Given the description of an element on the screen output the (x, y) to click on. 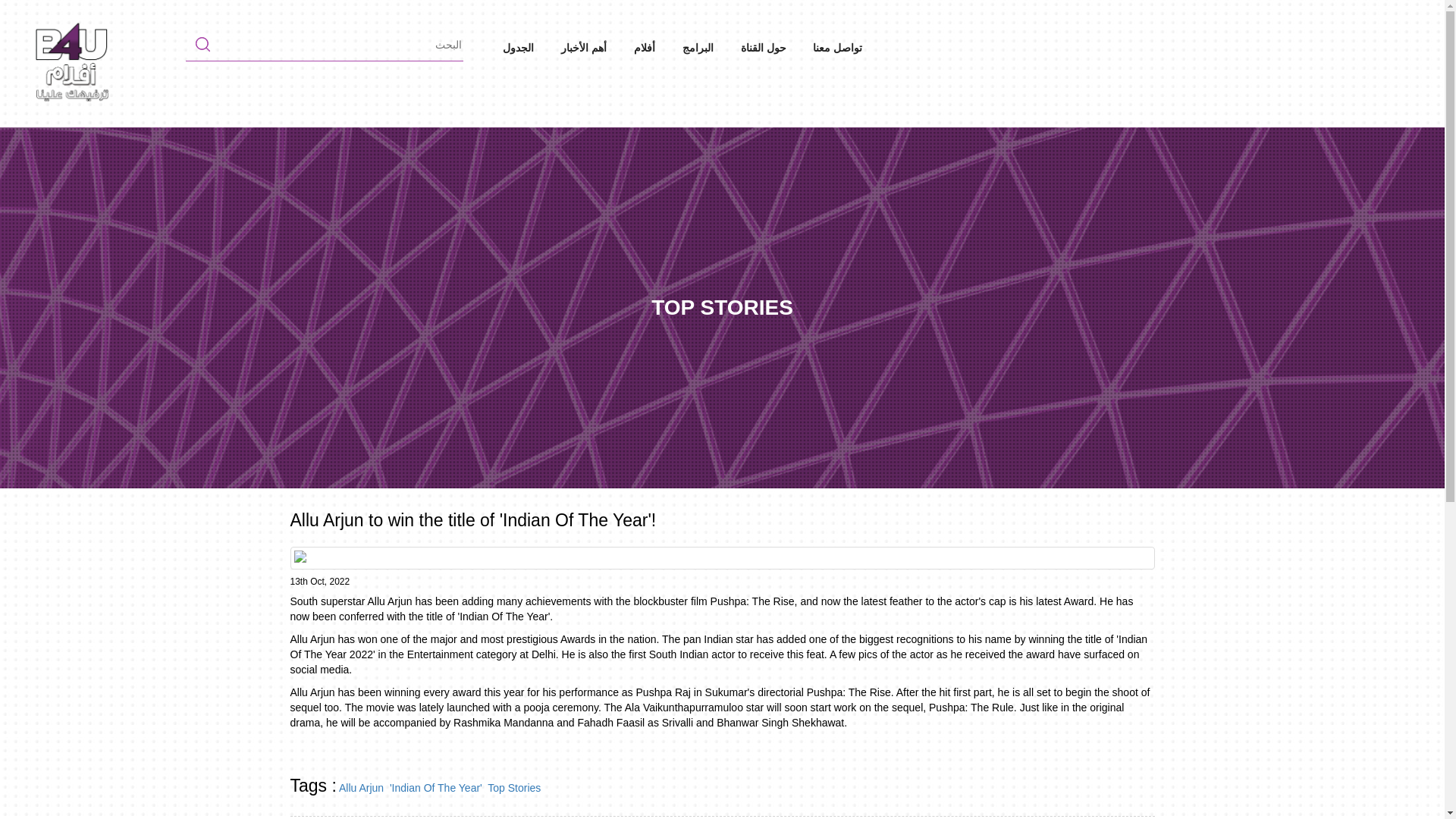
'Indian Of The Year' (435, 787)
Allu Arjun (361, 787)
Top Stories (513, 787)
